Given the description of an element on the screen output the (x, y) to click on. 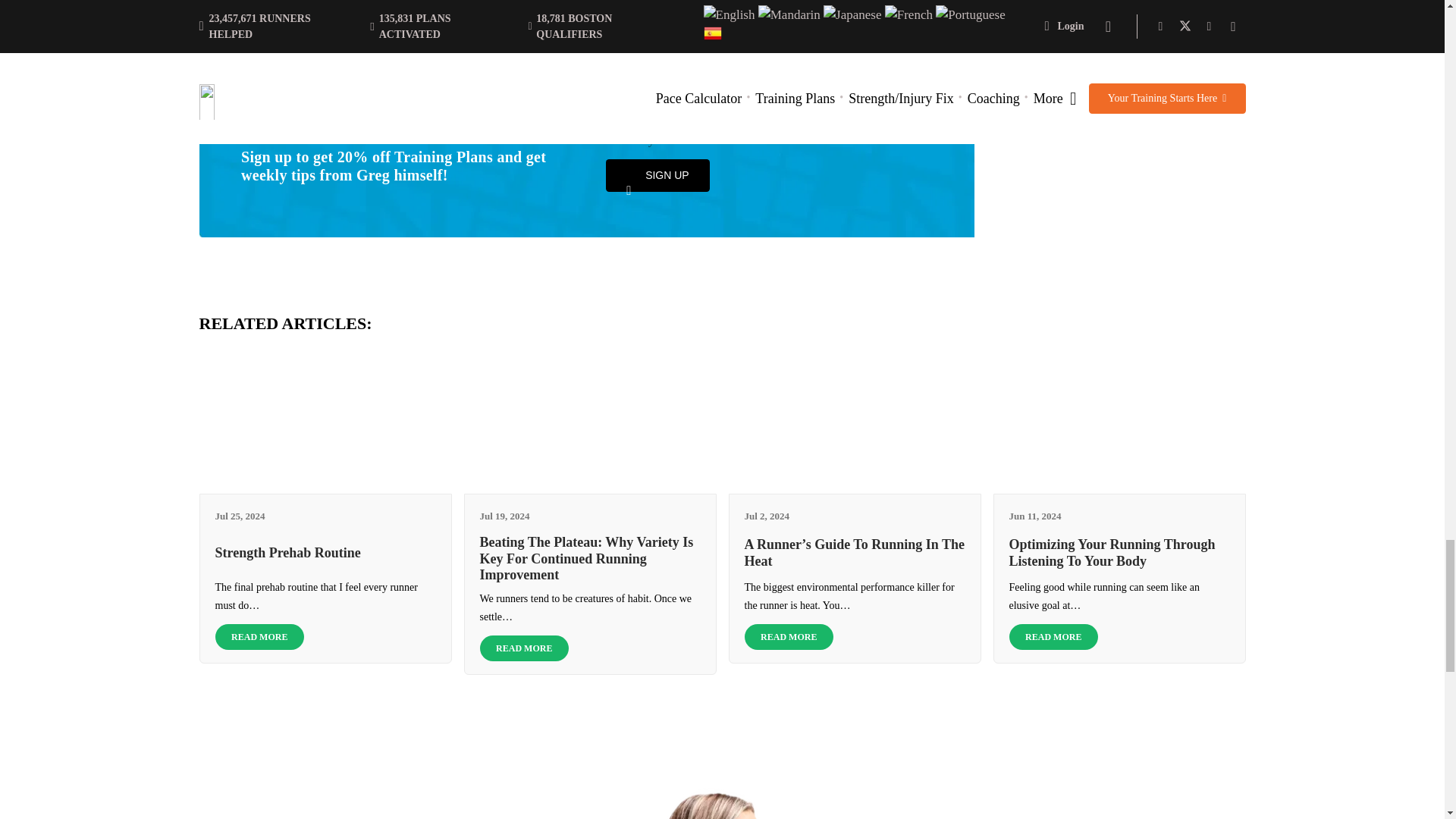
SIGN UP (657, 174)
